Given the description of an element on the screen output the (x, y) to click on. 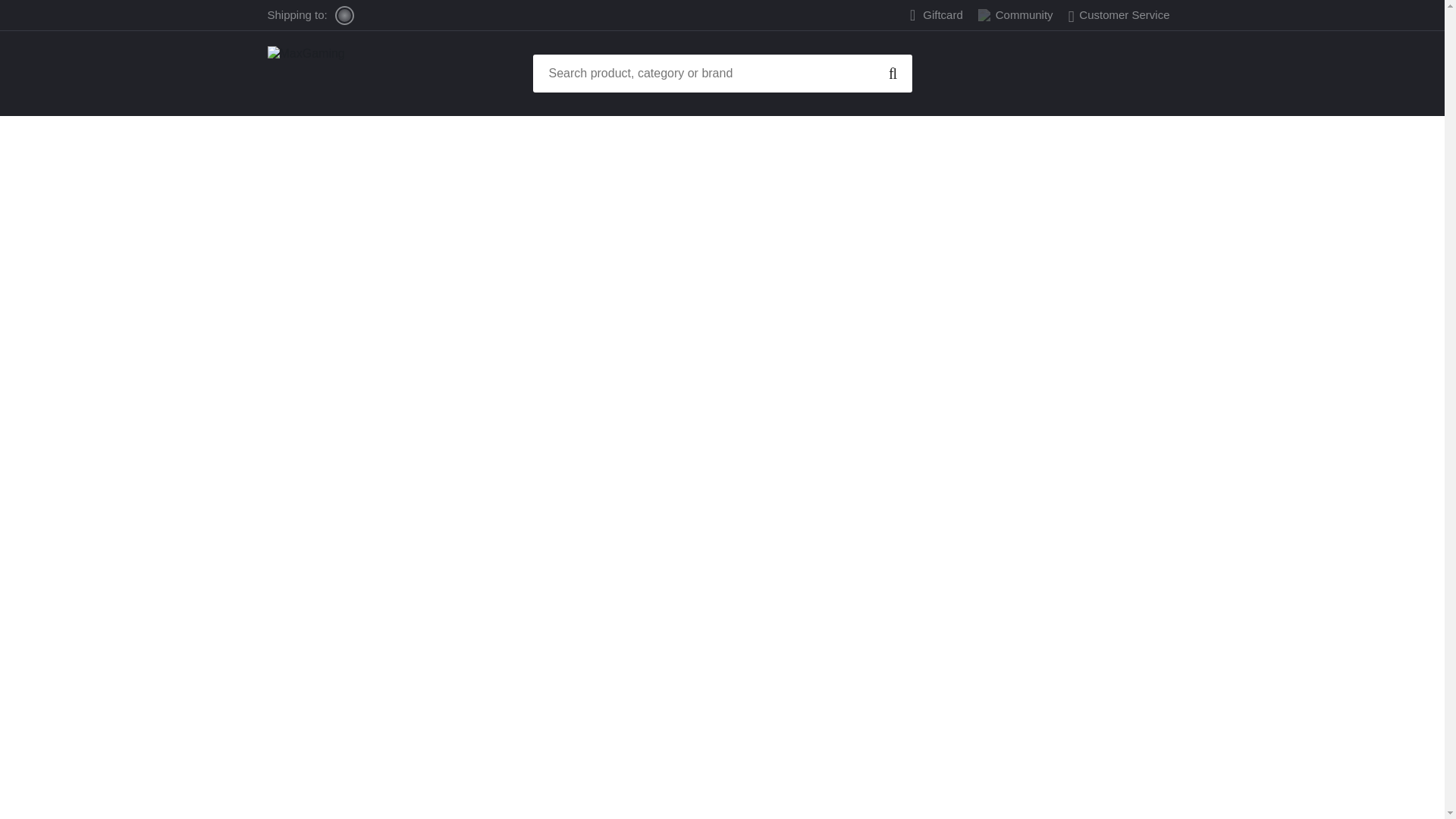
Customer Service (1119, 14)
Community (1016, 14)
Giftcard (943, 15)
MaxGaming (350, 72)
Giftcard (943, 15)
